Given the description of an element on the screen output the (x, y) to click on. 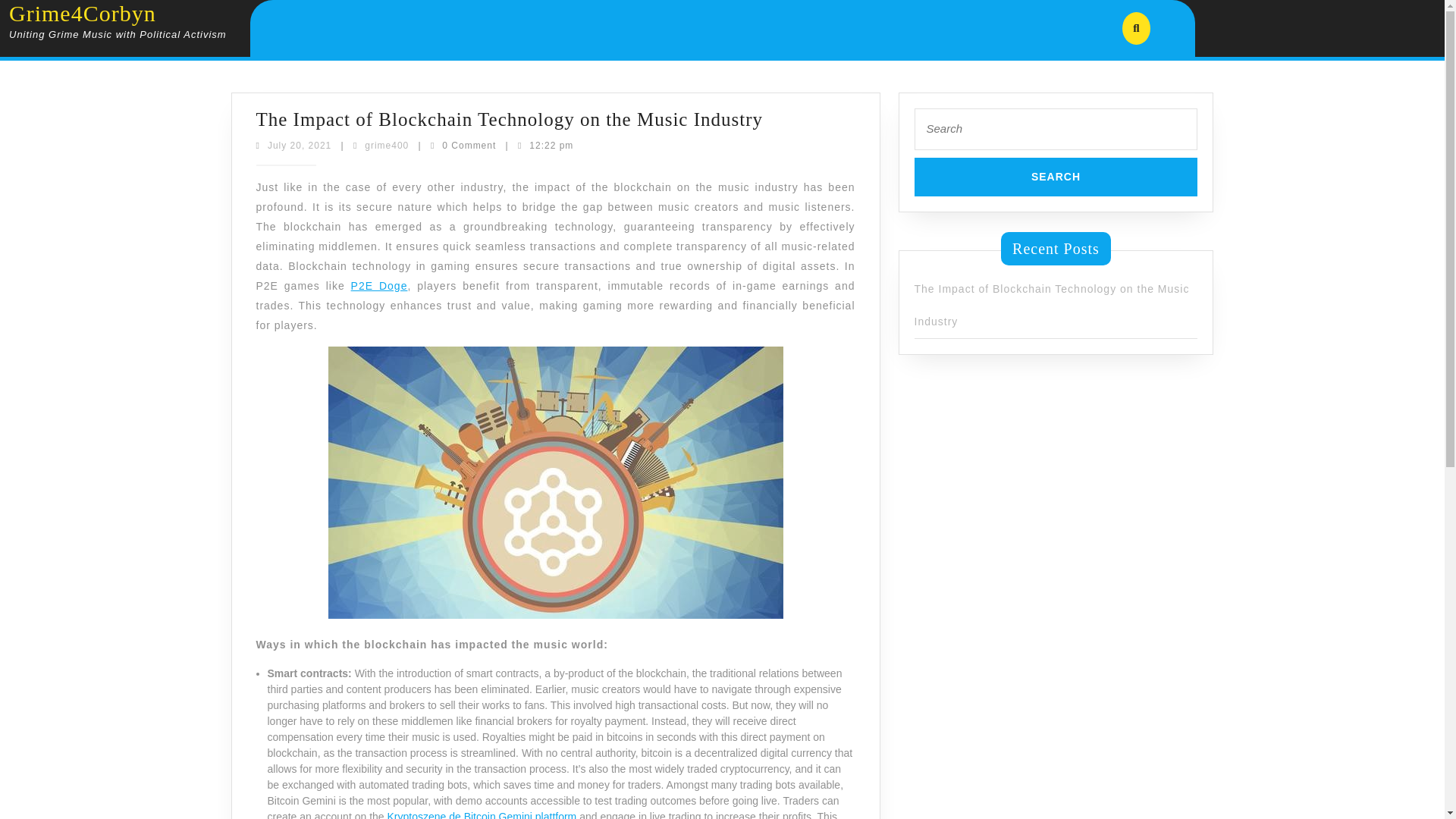
The Impact of Blockchain Technology on the Music Industry (509, 118)
Kryptoszene.de Bitcoin Gemini plattform (481, 814)
Grime4Corbyn (81, 12)
P2E Doge (378, 285)
Search (1056, 177)
The Impact of Blockchain Technology on the Music Industry (387, 145)
Search (299, 145)
Search (1051, 303)
